Given the description of an element on the screen output the (x, y) to click on. 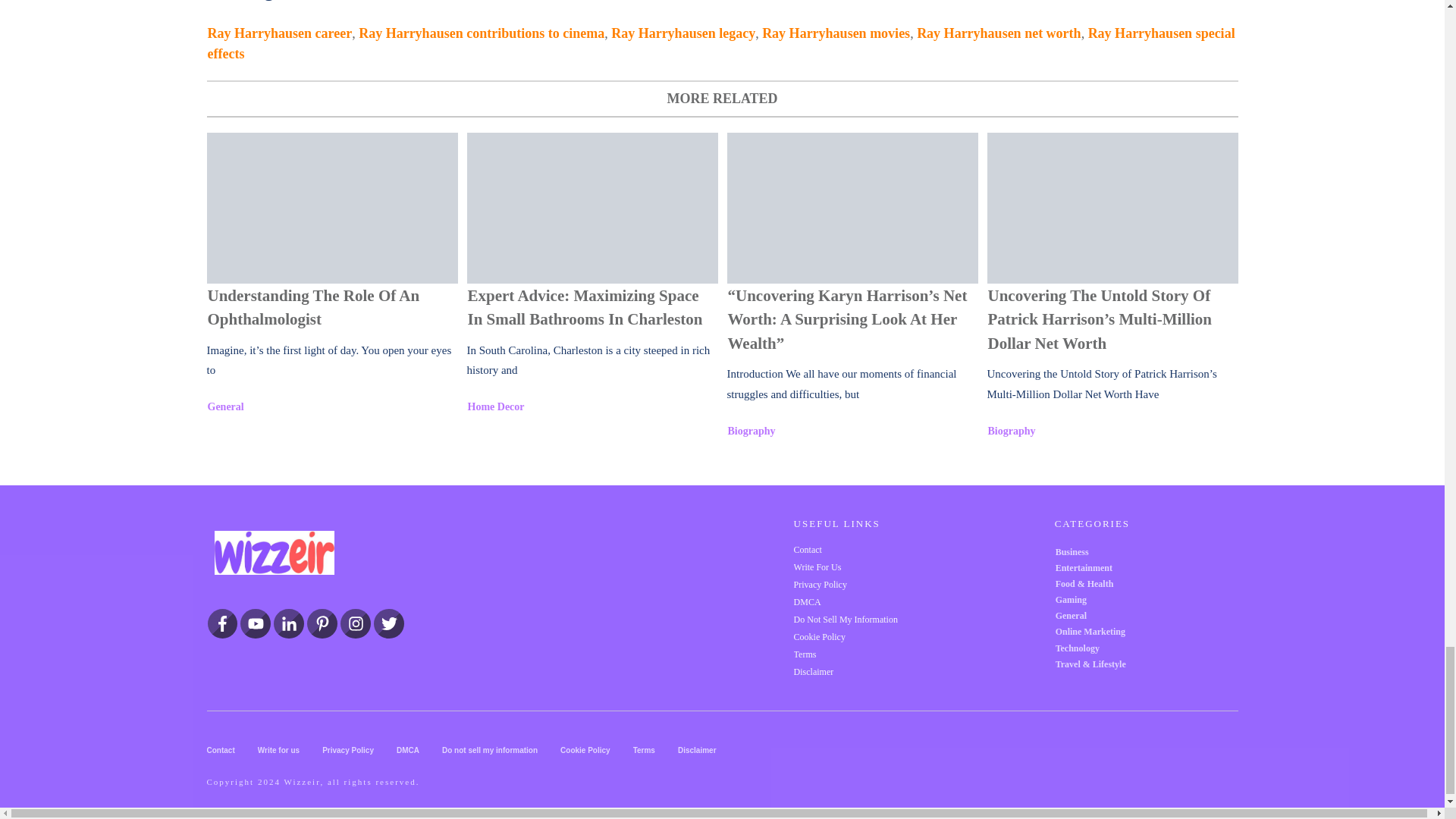
Home Decor (495, 406)
Ray Harryhausen special effects (721, 43)
Ray Harryhausen legacy (683, 32)
Ray Harryhausen career (280, 32)
Ray Harryhausen contributions to cinema (481, 32)
Understanding the Role of an Ophthalmologist (331, 207)
General (226, 406)
Ray Harryhausen net worth (999, 32)
Ray Harryhausen movies (835, 32)
